Given the description of an element on the screen output the (x, y) to click on. 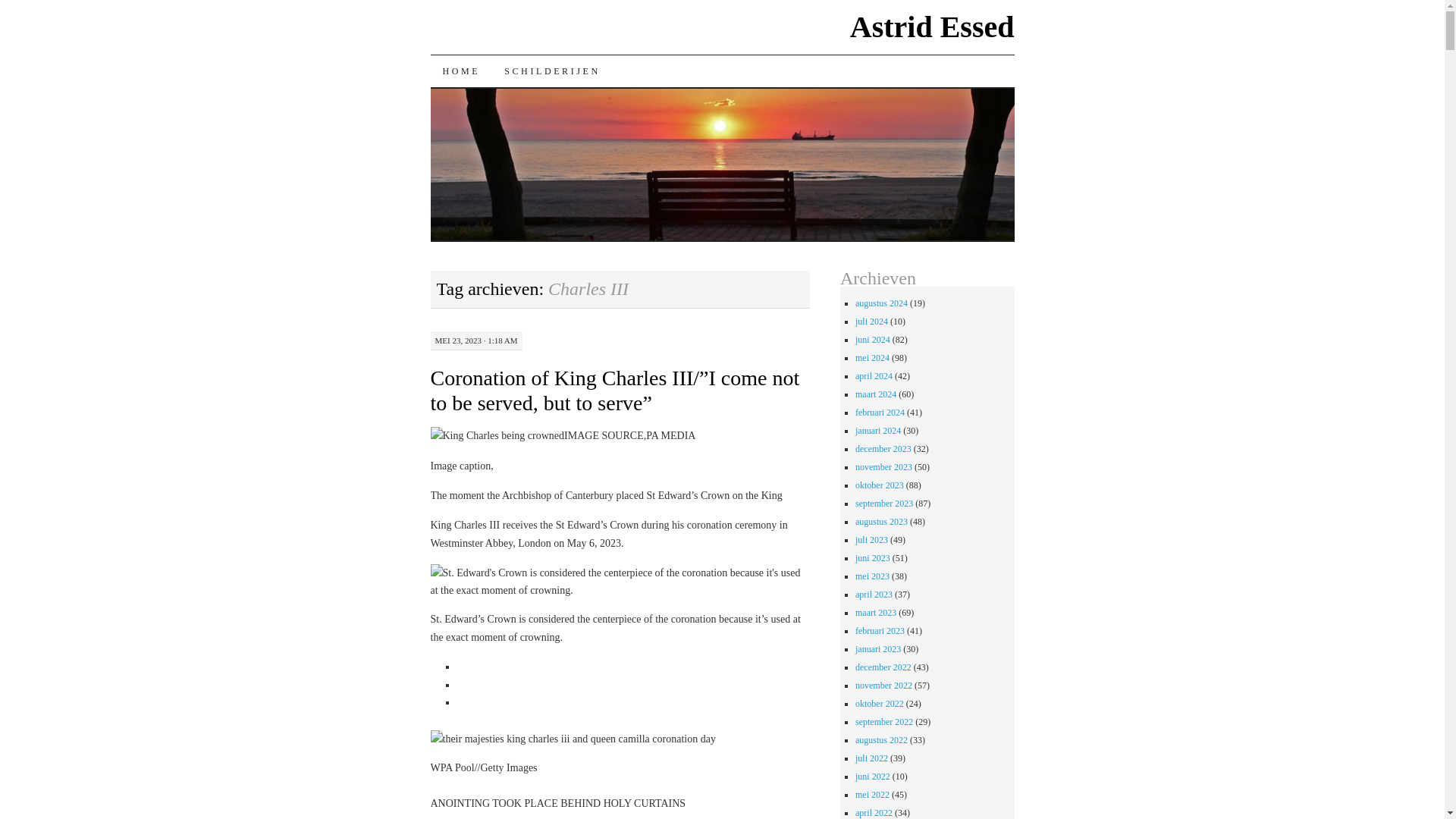
HOME (461, 70)
SCHILDERIJEN (552, 70)
Astrid Essed (932, 26)
Astrid Essed (932, 26)
